Given the description of an element on the screen output the (x, y) to click on. 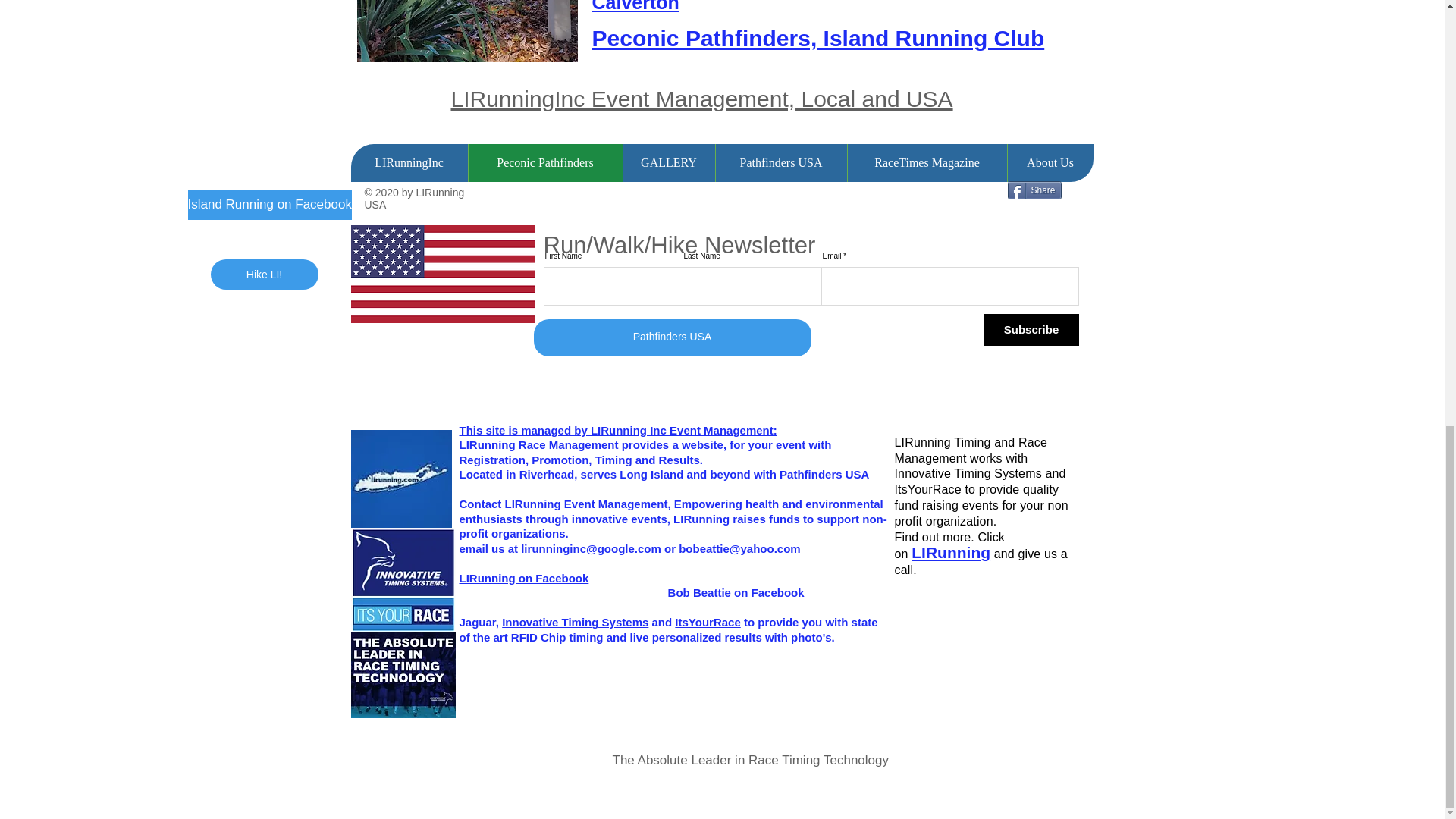
LIRunningInc (408, 162)
Share (1034, 189)
Peconic Pathfinders, Island Running Club (817, 37)
Peconic Pathfinders Road and Trail Runners Club at Calverton (826, 6)
LIRunningInc Event Management, Local and USA (700, 98)
